Given the description of an element on the screen output the (x, y) to click on. 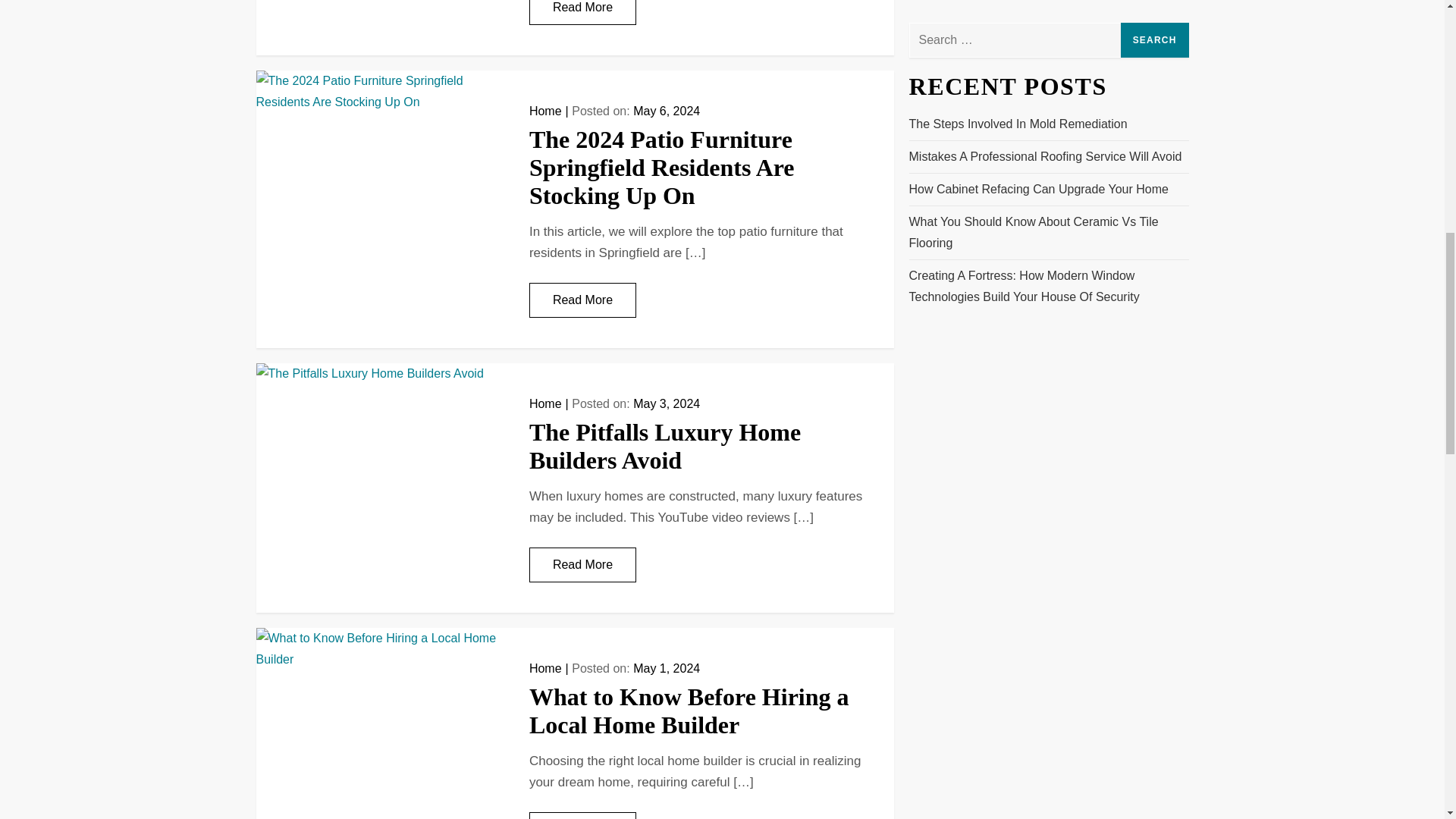
The Pitfalls Luxury Home Builders Avoid (664, 446)
Read More (582, 564)
Home (545, 403)
Home (545, 667)
What to Know Before Hiring a Local Home Builder (688, 710)
Home (545, 110)
Read More (582, 12)
May 6, 2024 (666, 110)
Read More (582, 299)
May 1, 2024 (666, 667)
May 3, 2024 (666, 403)
Read More (582, 815)
